Given the description of an element on the screen output the (x, y) to click on. 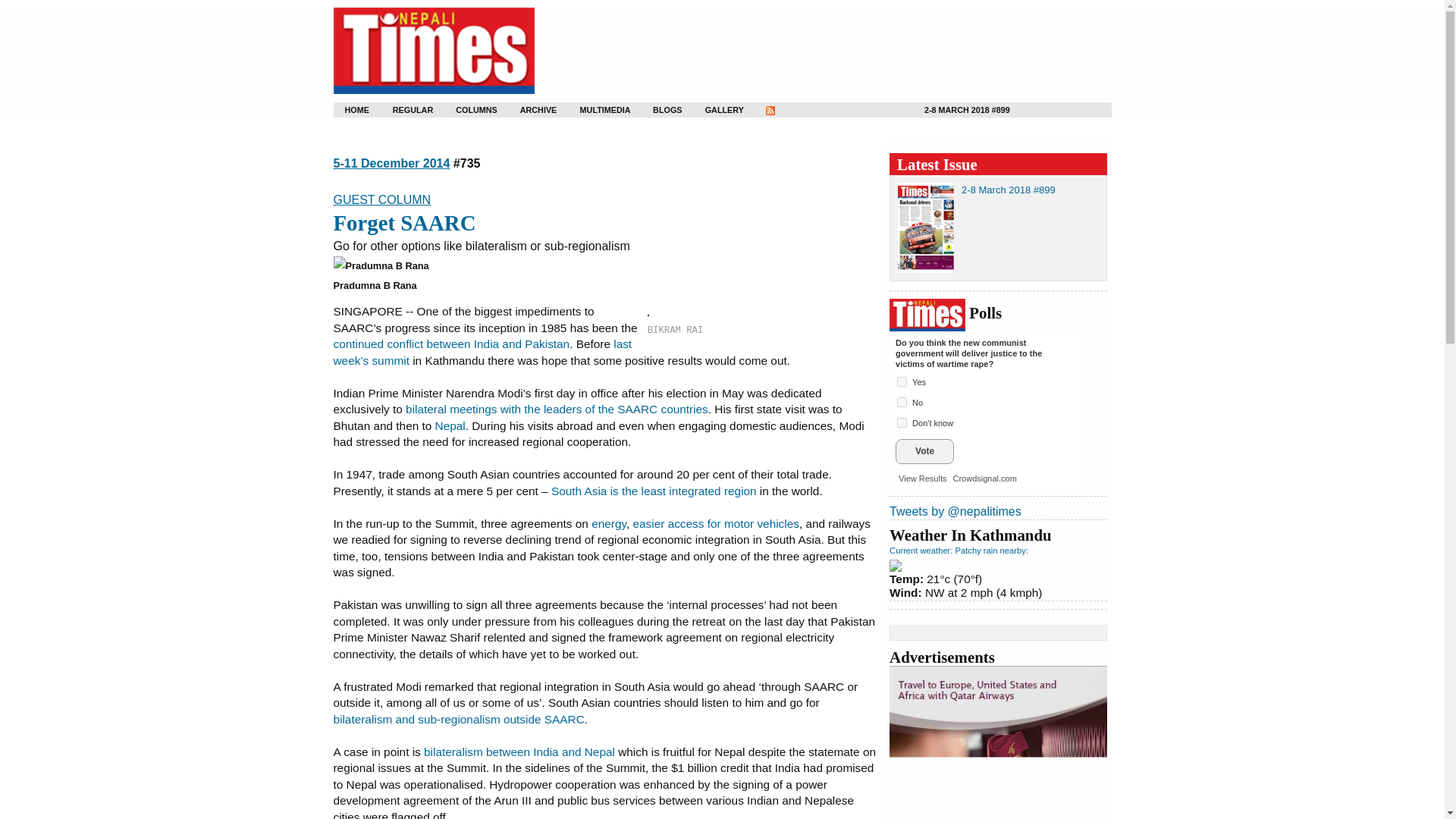
45613186 (901, 402)
GALLERY (714, 110)
ARCHIVE (528, 110)
REGULAR (403, 110)
Nepali Times (433, 51)
45613185 (901, 381)
BLOGS (659, 110)
Issue: 2-8 March 2018 (967, 110)
COLUMNS (465, 110)
Issue: 2-8 March 2018 (1007, 189)
HOME (349, 109)
Issue: 5-11 December 2014 (391, 163)
 Pradumna B Rana (381, 266)
45613187 (901, 422)
Nepali Times (433, 51)
